Given the description of an element on the screen output the (x, y) to click on. 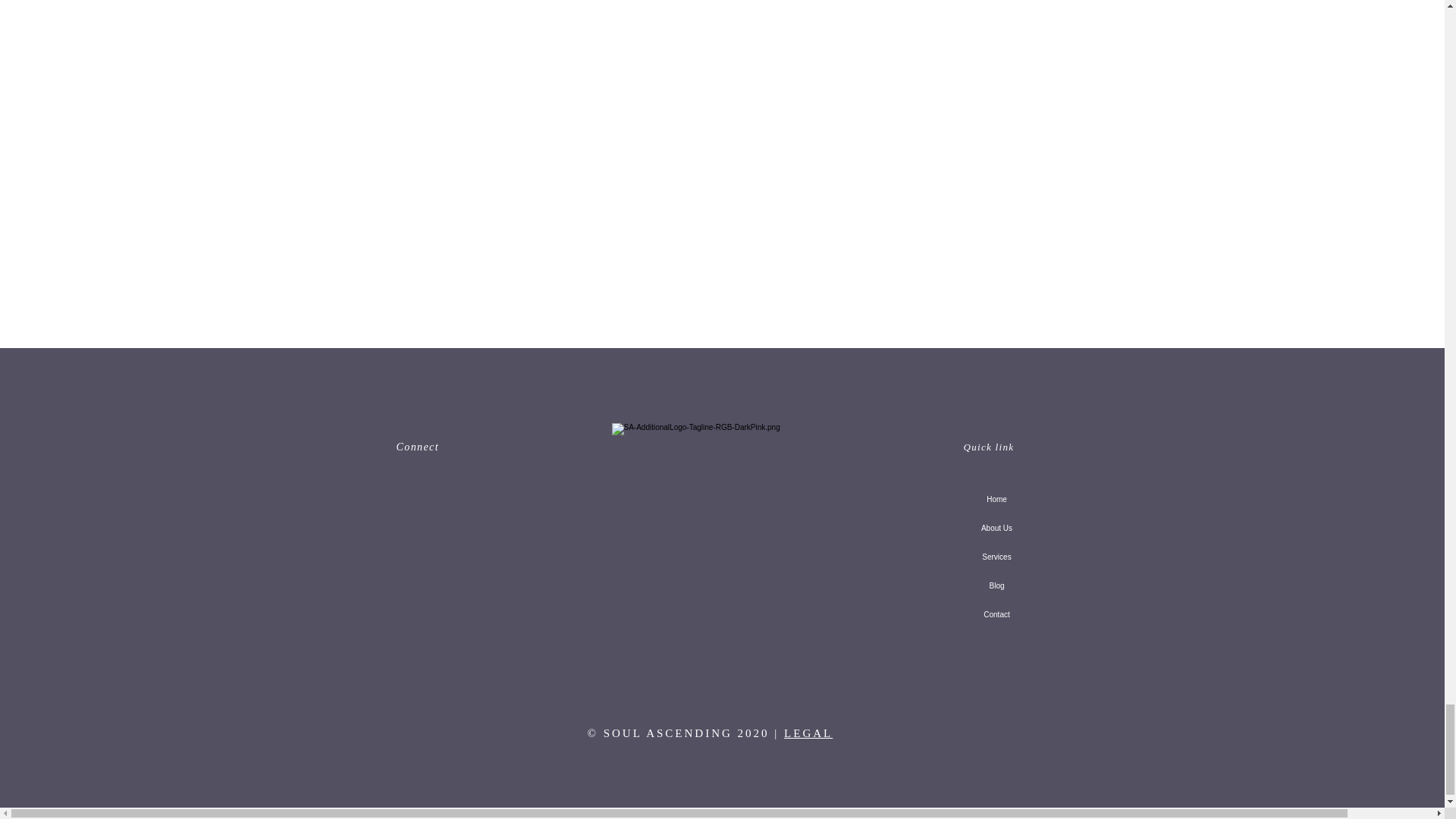
Blog (996, 585)
LEGAL (808, 733)
About Us (996, 528)
Contact (996, 614)
Services (996, 556)
guy4.jpg (714, 506)
Home (996, 499)
